Given the description of an element on the screen output the (x, y) to click on. 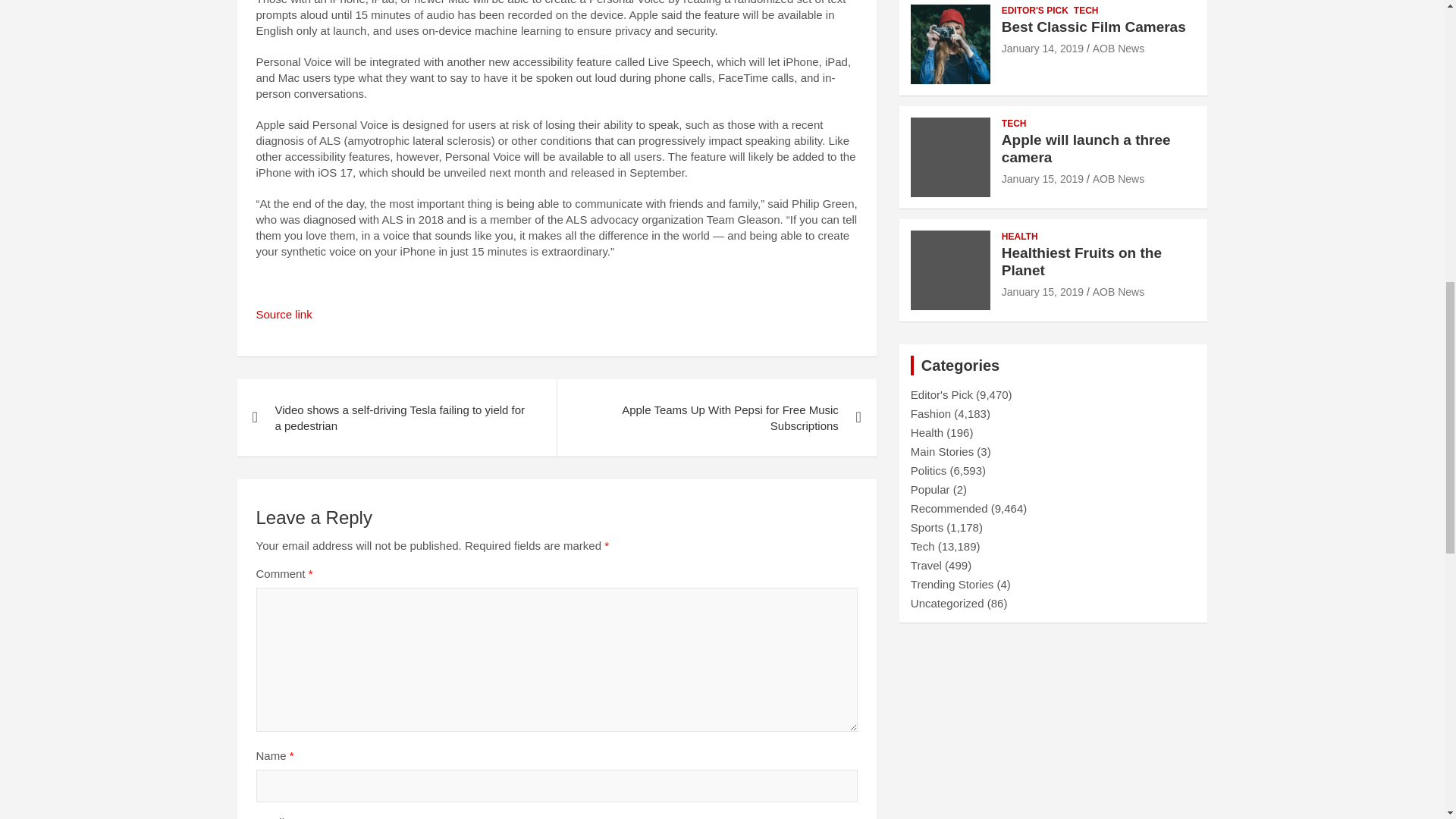
Best Classic Film Cameras (1042, 48)
Apple Teams Up With Pepsi for Free Music Subscriptions (716, 417)
Source link (284, 314)
Healthiest Fruits on the Planet (1042, 291)
Apple will launch a three camera (1042, 178)
